Given the description of an element on the screen output the (x, y) to click on. 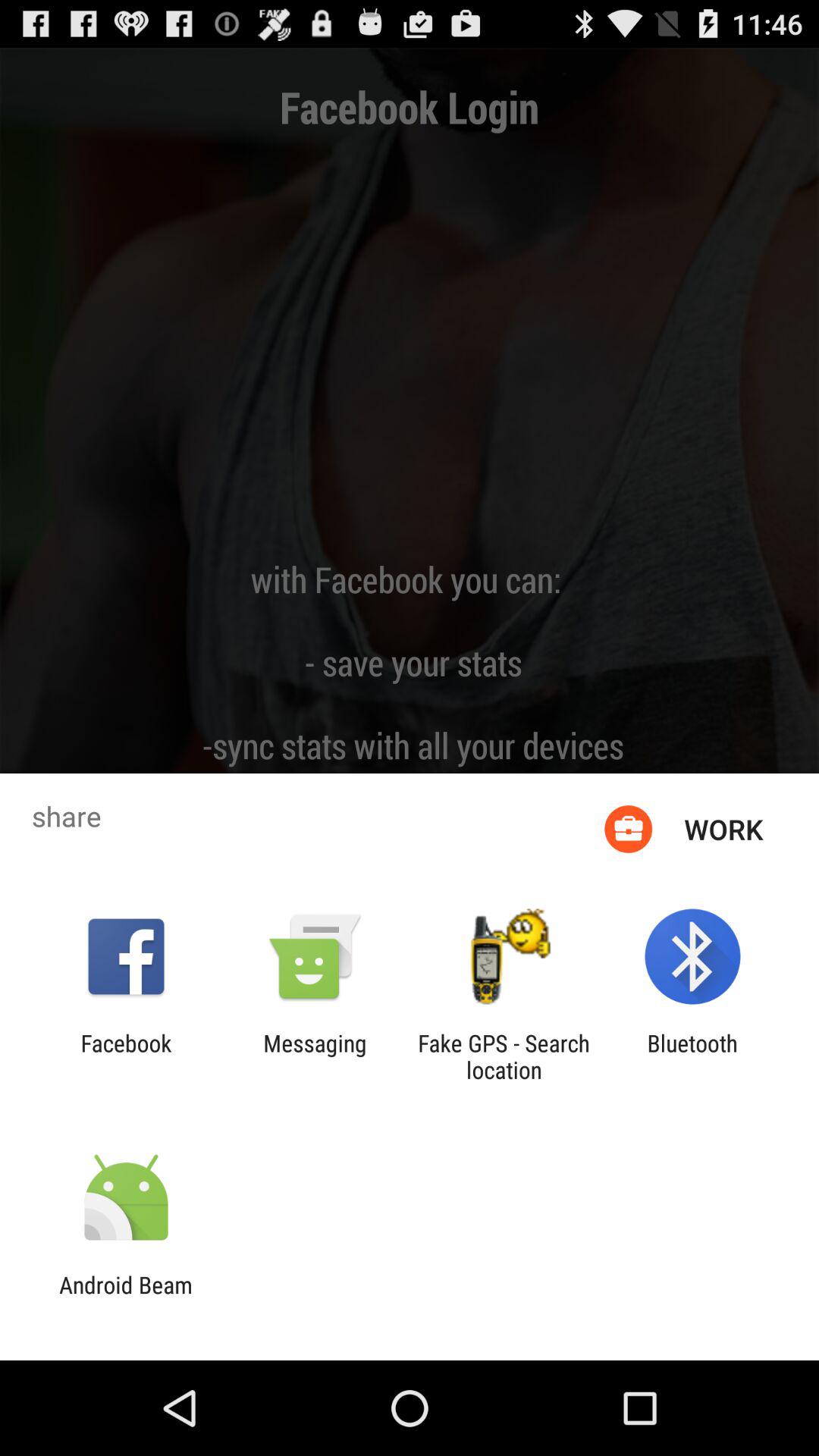
tap the icon next to fake gps search (314, 1056)
